Given the description of an element on the screen output the (x, y) to click on. 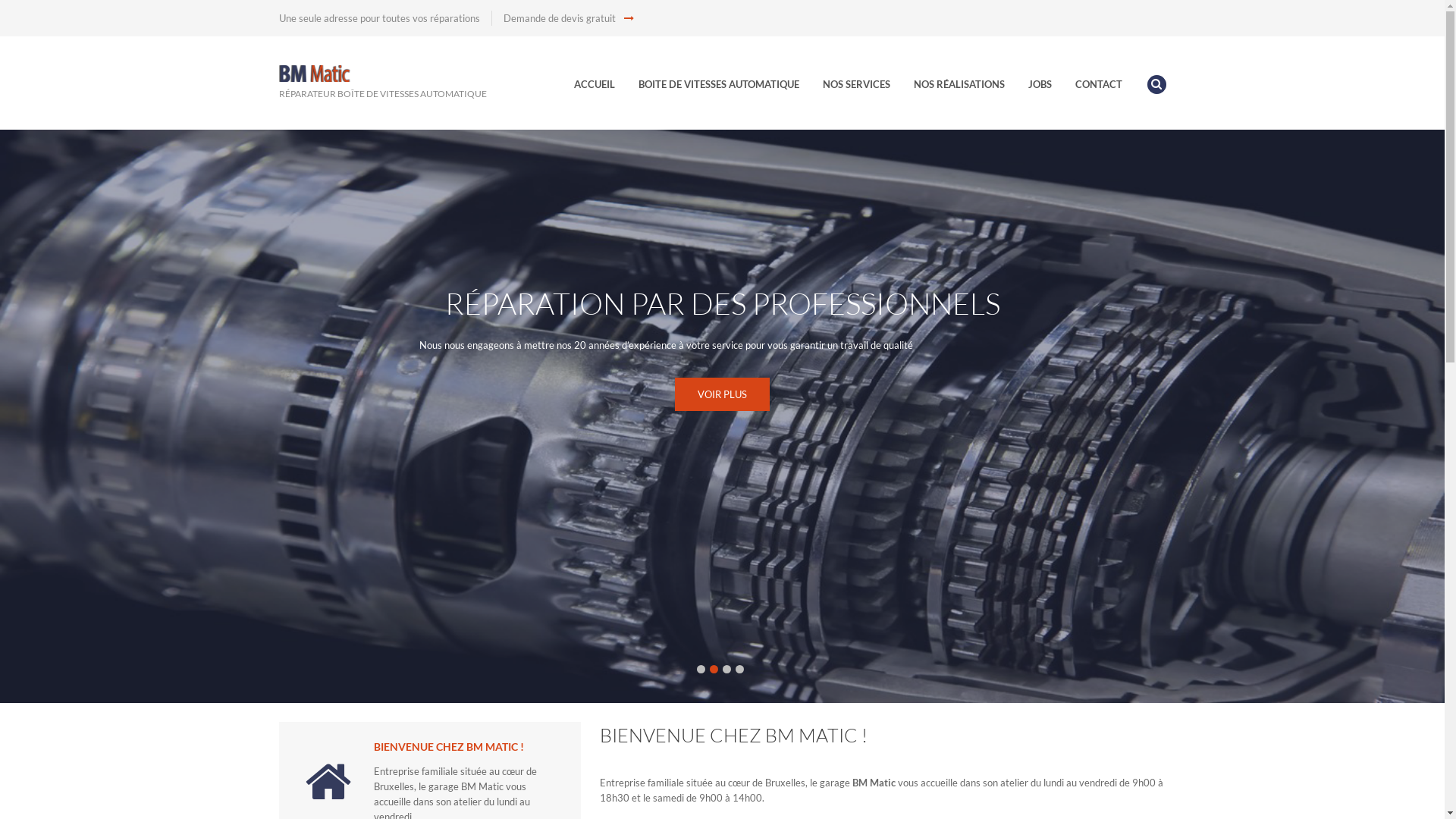
BOITE DE VITESSES AUTOMATIQUE Element type: text (729, 84)
4 Element type: text (739, 669)
NOS SERVICES Element type: text (866, 84)
ACCUEIL Element type: text (604, 84)
1 Element type: text (700, 669)
3 Element type: text (725, 669)
Demande de devis gratuit Element type: text (568, 18)
JOBS Element type: text (1050, 84)
CONTACT Element type: text (1109, 84)
VOIR PLUS Element type: text (721, 394)
2 Element type: text (713, 669)
